Given the description of an element on the screen output the (x, y) to click on. 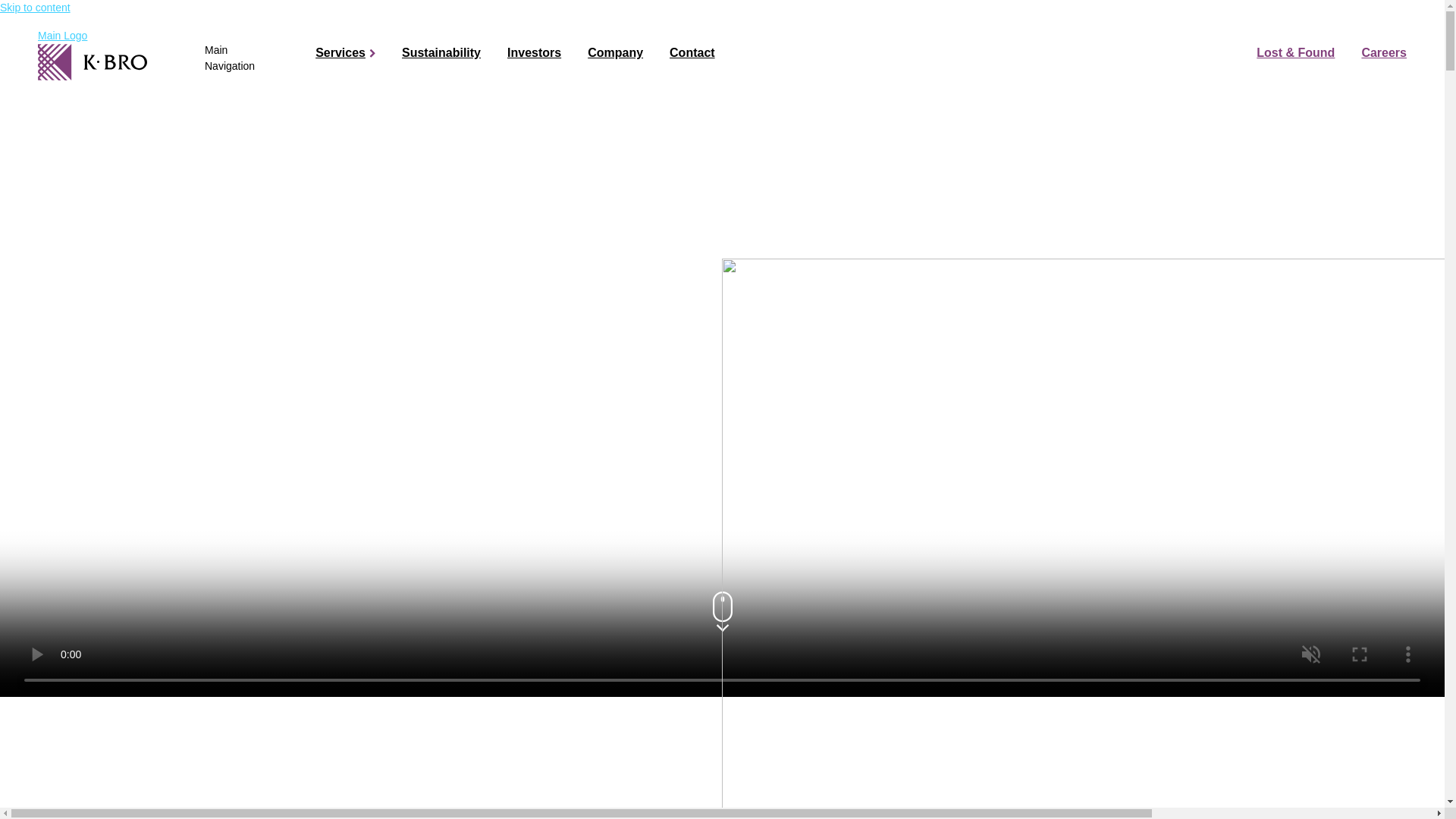
Skip to content (34, 7)
Careers (1383, 52)
Main Logo (92, 55)
Sustainability (440, 52)
Services (340, 52)
Investors (533, 52)
Contact (691, 52)
Company (615, 52)
